Given the description of an element on the screen output the (x, y) to click on. 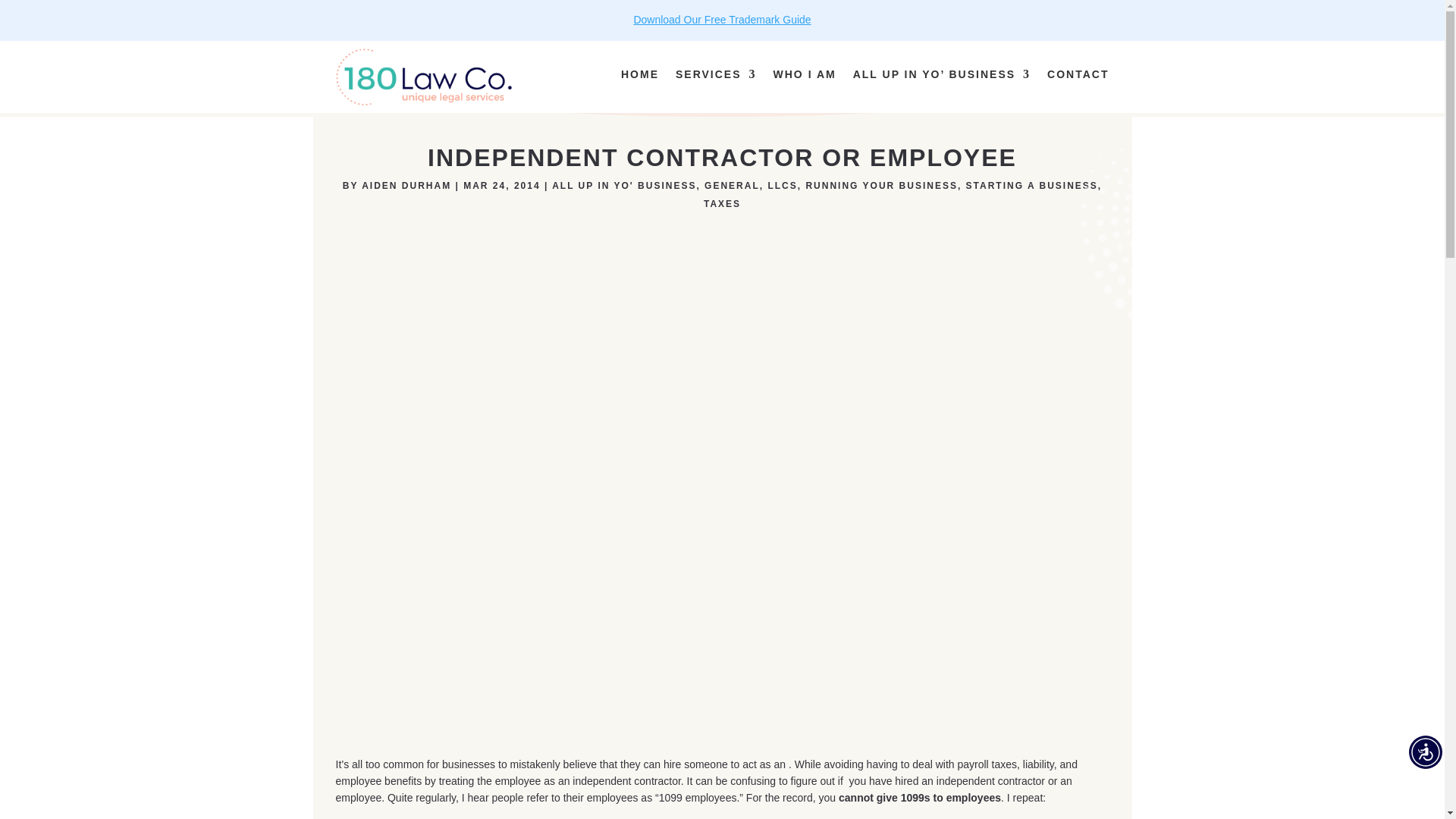
flowers5 (1194, 230)
ALL UP IN YO' BUSINESS (623, 185)
Accessibility Menu (1425, 752)
GENERAL (732, 185)
SERVICES (716, 73)
RUNNING YOUR BUSINESS (880, 185)
Posts by Aiden Durham (406, 185)
STARTING A BUSINESS (1031, 185)
Download Our Free Trademark Guide (721, 19)
WHO I AM (804, 73)
CONTACT (1077, 76)
HOME (640, 73)
TAXES (722, 204)
AIDEN DURHAM (406, 185)
